Given the description of an element on the screen output the (x, y) to click on. 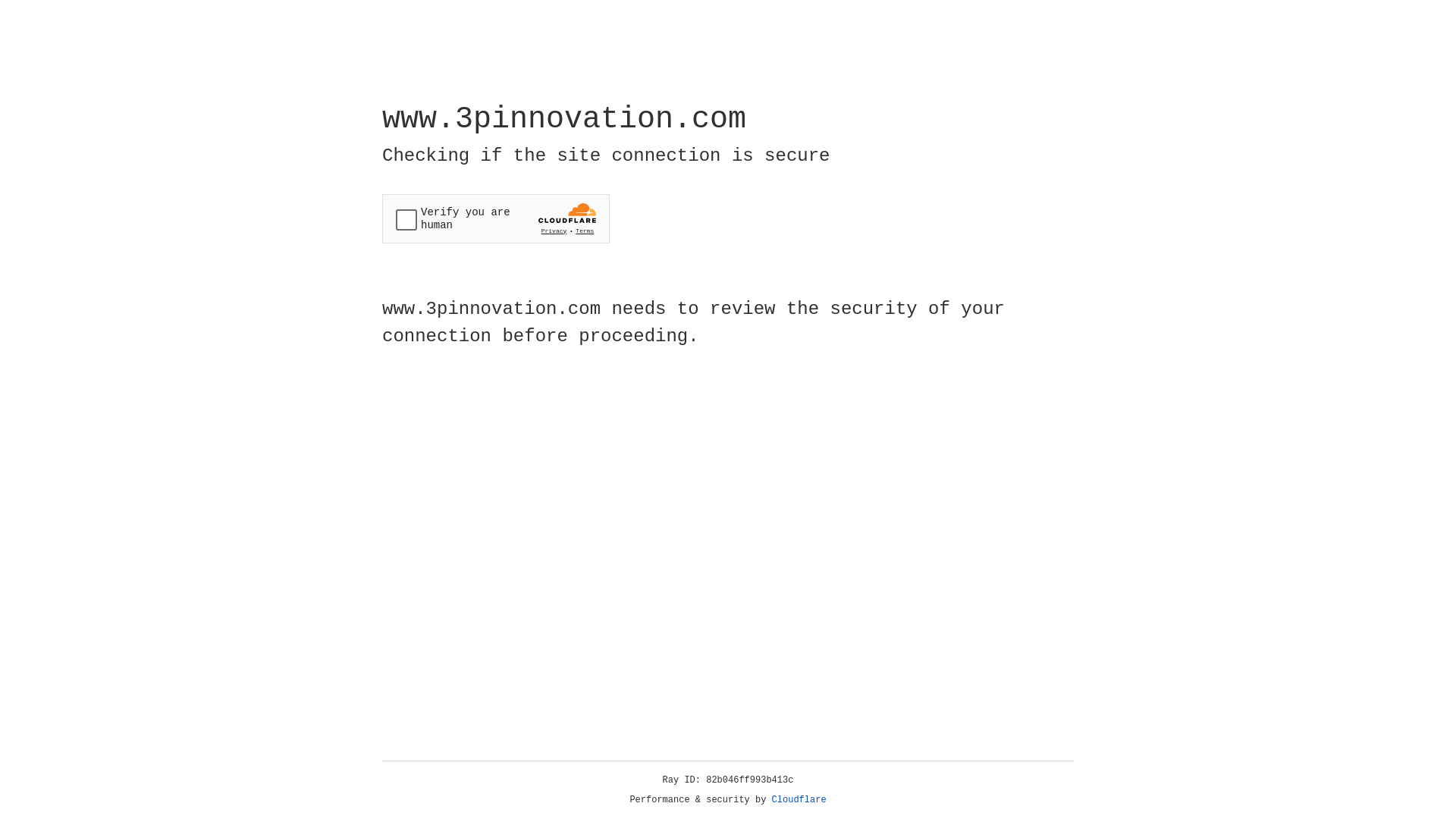
Cloudflare Element type: text (798, 799)
Widget containing a Cloudflare security challenge Element type: hover (495, 218)
